Given the description of an element on the screen output the (x, y) to click on. 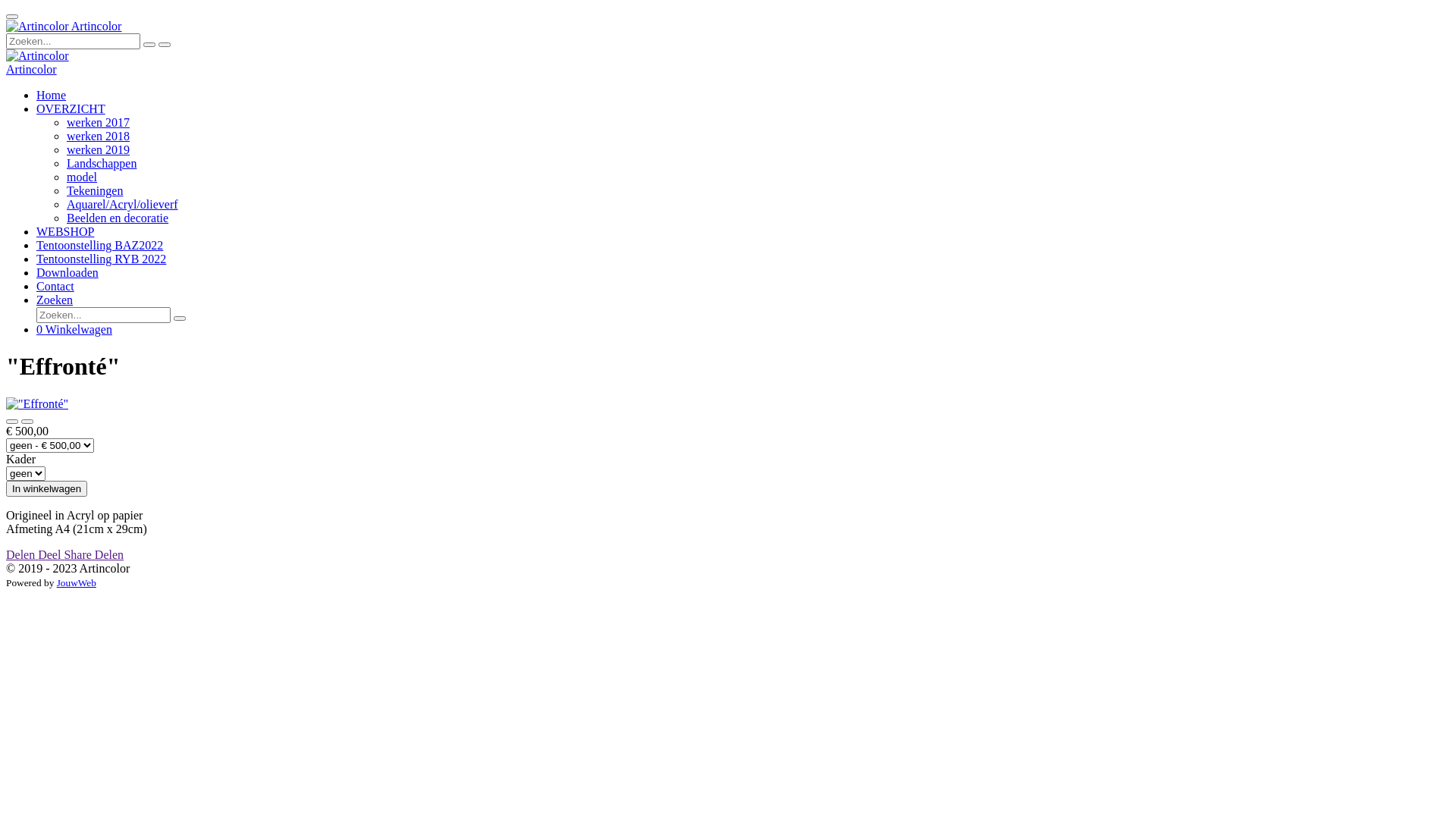
Tekeningen Element type: text (94, 190)
WEBSHOP Element type: text (65, 231)
Aquarel/Acryl/olieverf Element type: text (122, 203)
werken 2018 Element type: text (97, 135)
Tentoonstelling BAZ2022 Element type: text (99, 244)
werken 2017 Element type: text (97, 122)
Artincolor Element type: hover (37, 26)
Deel Element type: text (50, 554)
Delen Element type: text (21, 554)
Artincolor Element type: hover (37, 55)
Landschappen Element type: text (101, 162)
OVERZICHT Element type: text (70, 108)
Tentoonstelling RYB 2022 Element type: text (101, 258)
Zoeken Element type: text (54, 299)
Artincolor Element type: text (63, 25)
Downloaden Element type: text (67, 272)
Contact Element type: text (55, 285)
werken 2019 Element type: text (97, 149)
Beelden en decoratie Element type: text (117, 217)
In winkelwagen Element type: text (46, 488)
Home Element type: text (50, 94)
Artincolor Element type: text (31, 68)
0 Winkelwagen Element type: text (74, 329)
JouwWeb Element type: text (76, 582)
Delen Element type: text (108, 554)
Share Element type: text (78, 554)
model Element type: text (81, 176)
